Given the description of an element on the screen output the (x, y) to click on. 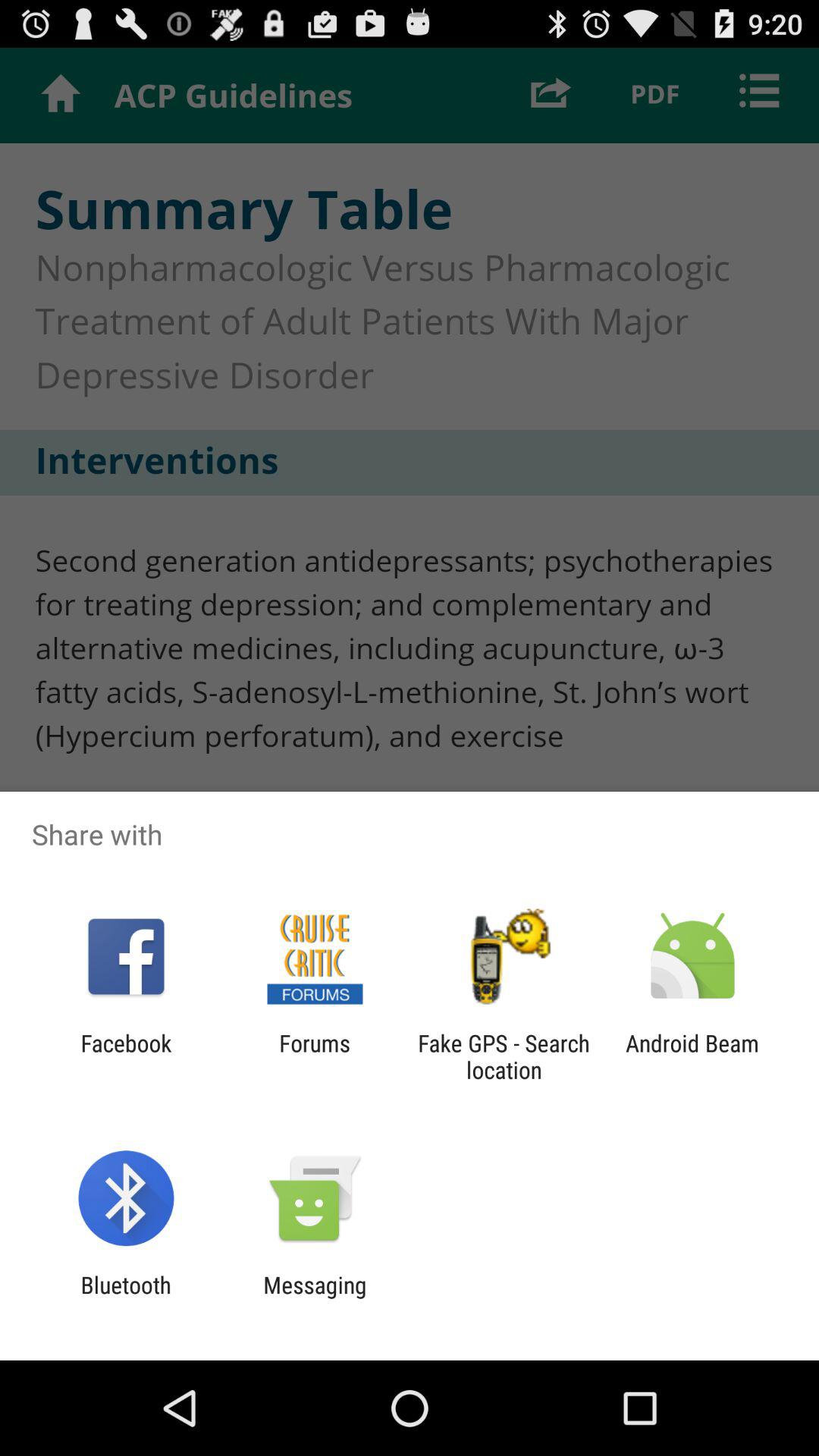
press the messaging app (314, 1298)
